Given the description of an element on the screen output the (x, y) to click on. 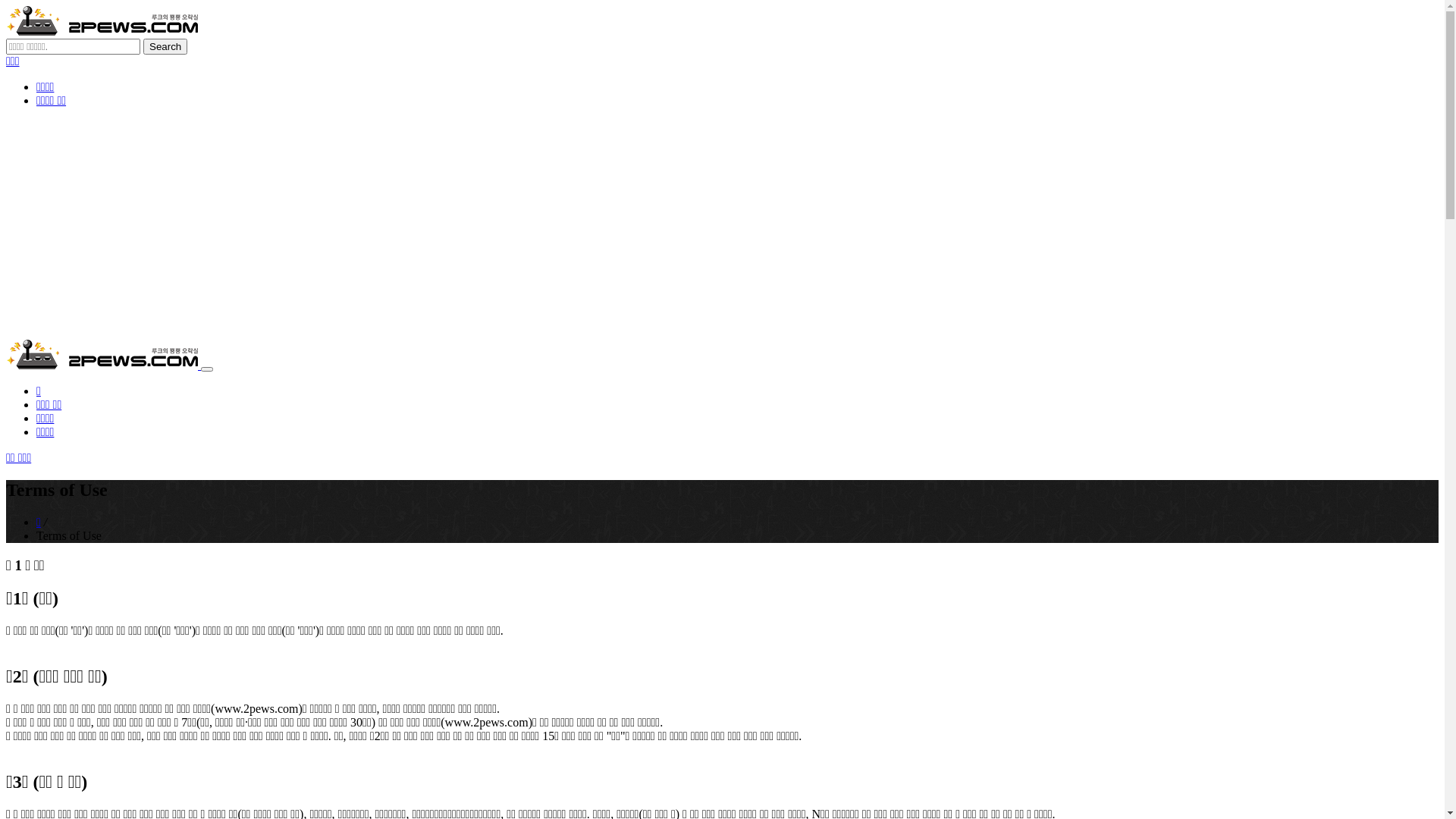
Advertisement Element type: hover (721, 225)
Search Element type: text (165, 46)
